Given the description of an element on the screen output the (x, y) to click on. 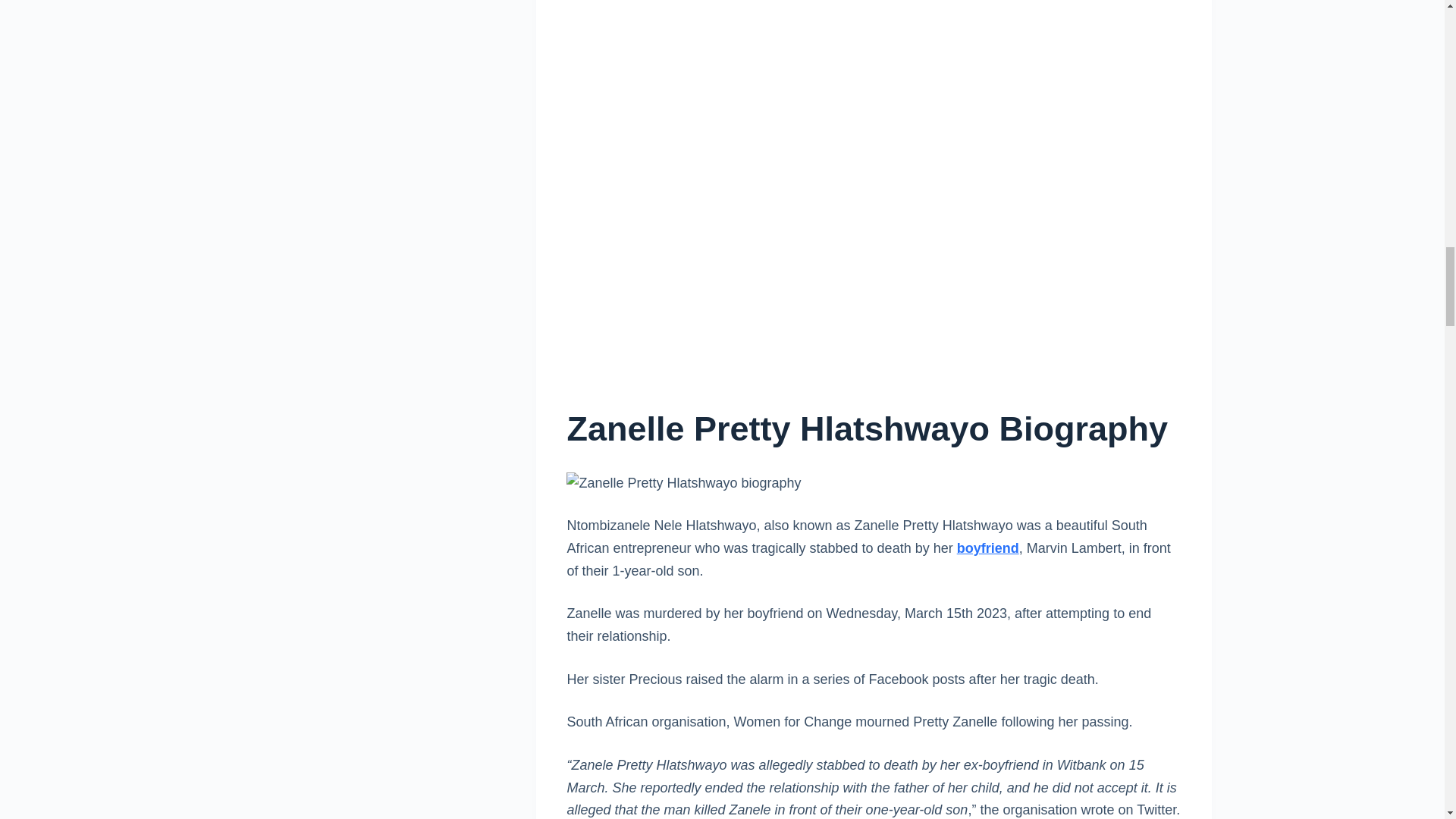
boyfriend (987, 548)
